Given the description of an element on the screen output the (x, y) to click on. 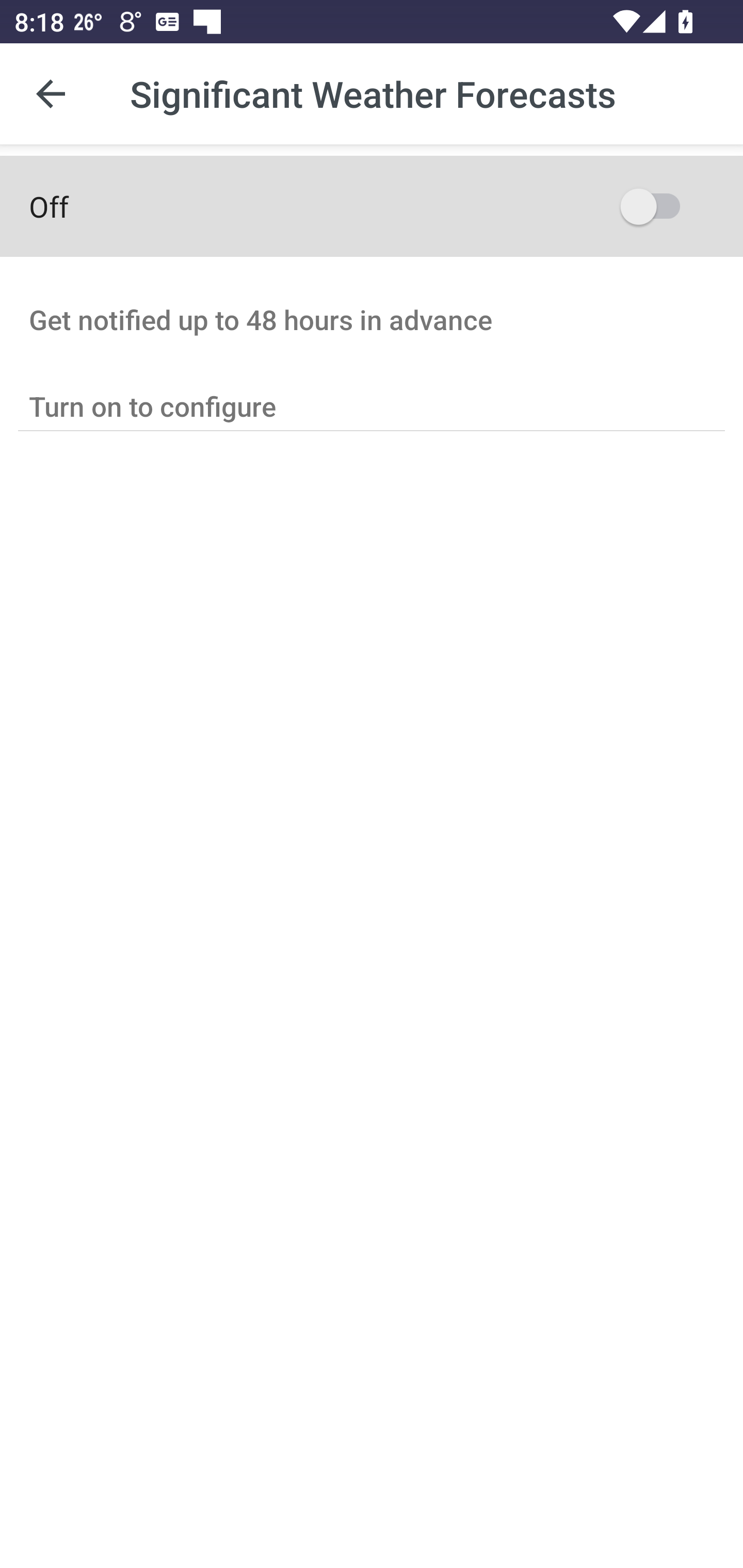
Navigate up (50, 93)
Off (371, 206)
